Given the description of an element on the screen output the (x, y) to click on. 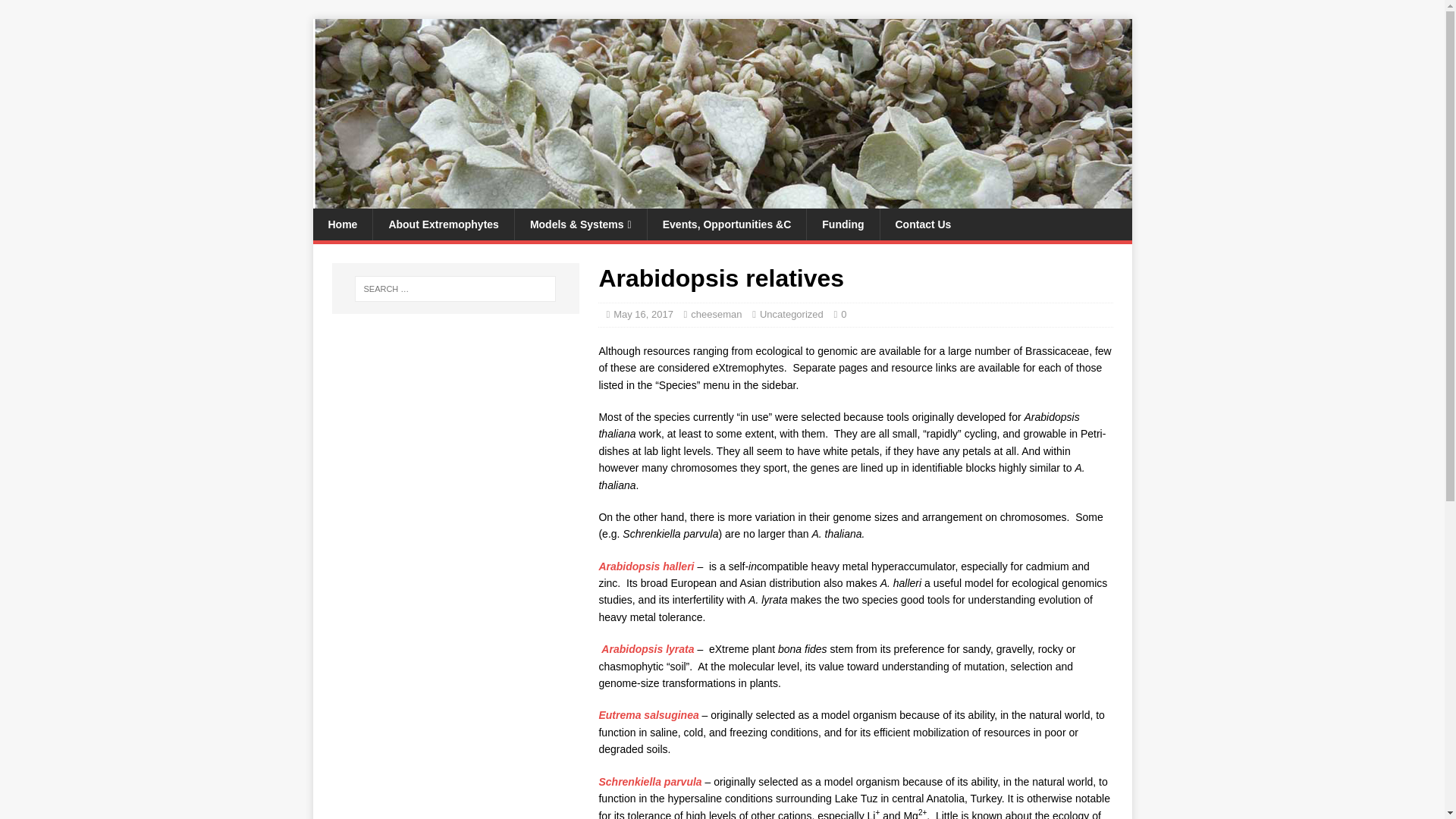
eXtreme Plants (722, 200)
Search (56, 11)
Arabidopsis halleri (646, 566)
Funding (842, 224)
About Extremophytes (442, 224)
 Arabidopsis lyrata (646, 648)
cheeseman (715, 314)
Eutrema salsuginea (648, 715)
Schrenkiella parvula (649, 781)
Contact Us (922, 224)
